Given the description of an element on the screen output the (x, y) to click on. 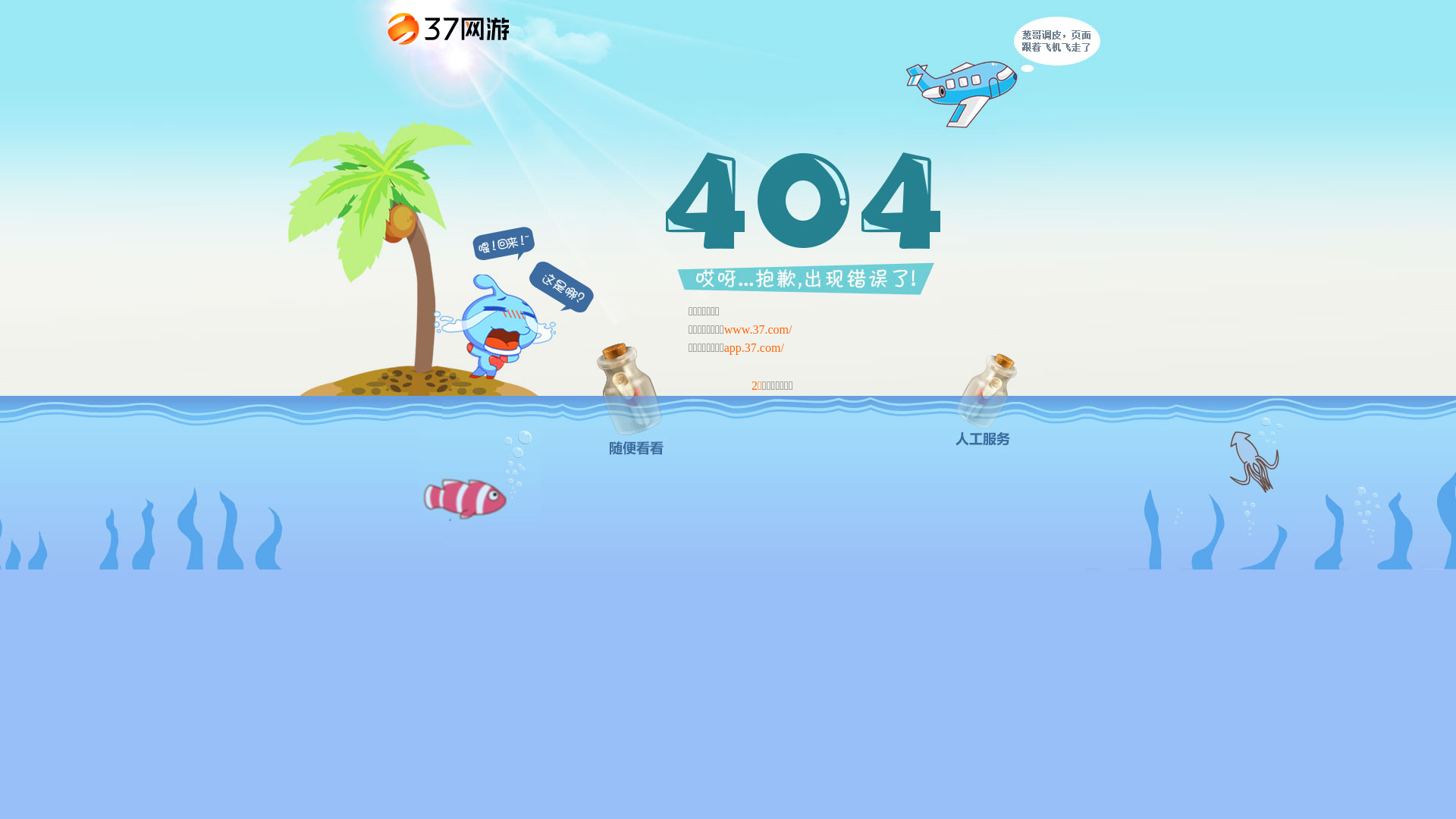
www.37.com/ Element type: text (758, 329)
app.37.com/ Element type: text (754, 347)
